Given the description of an element on the screen output the (x, y) to click on. 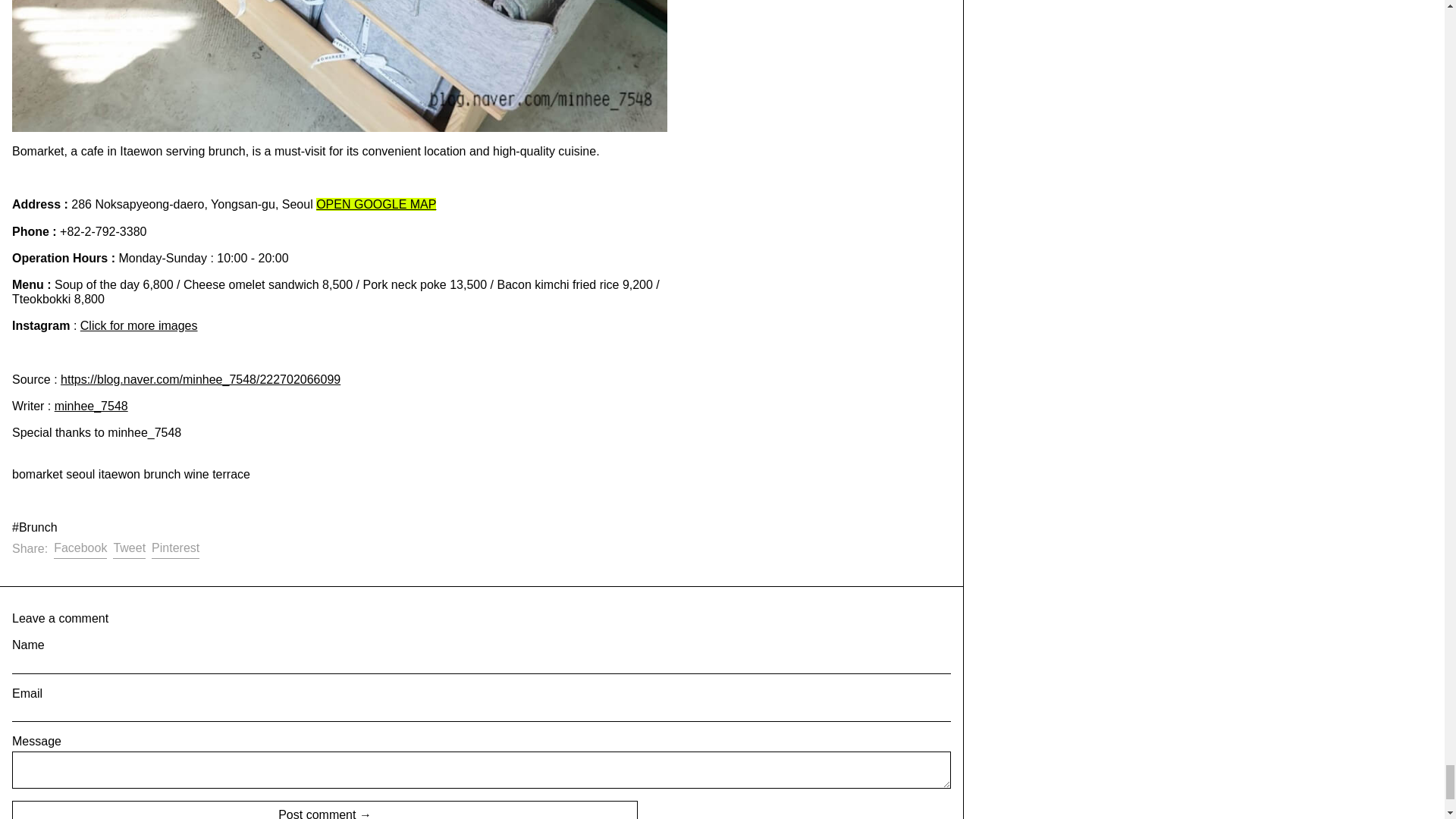
seoul good restaurant (91, 405)
itaewon bomarket (375, 204)
bomarket itaewon seoul (139, 325)
Click for more images (139, 325)
OPEN GOOGLE MAP (375, 204)
itaewon bo market (200, 379)
